Given the description of an element on the screen output the (x, y) to click on. 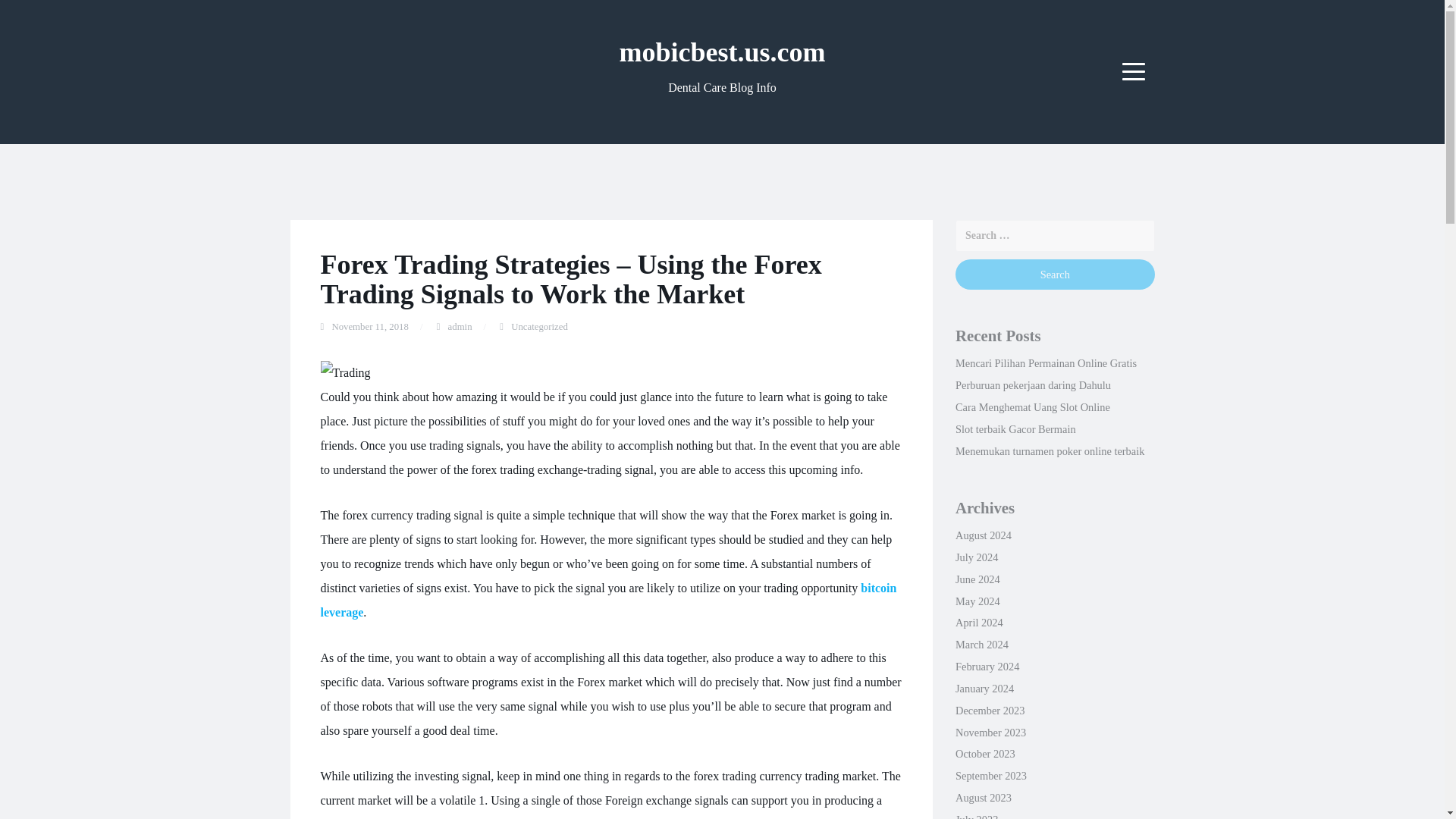
bitcoin leverage (608, 600)
Slot terbaik Gacor Bermain (1015, 428)
Search (1054, 274)
August 2024 (983, 535)
Perburuan pekerjaan daring Dahulu (1032, 385)
March 2024 (982, 644)
Search (1054, 274)
Uncategorized (539, 326)
September 2023 (990, 775)
January 2024 (984, 688)
